Given the description of an element on the screen output the (x, y) to click on. 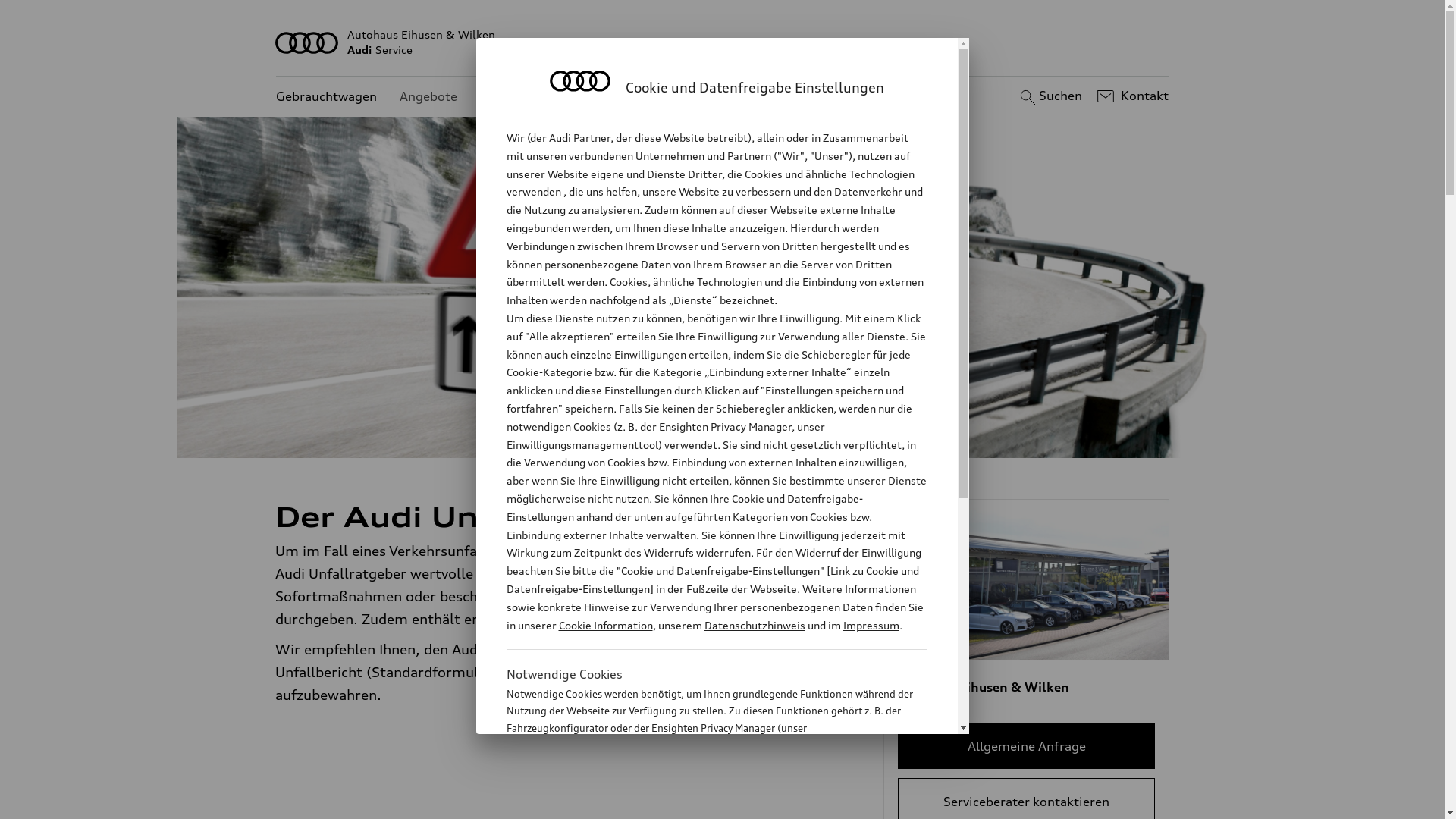
Datenschutzhinweis Element type: text (753, 624)
Impressum Element type: text (871, 624)
Cookie Information Element type: text (700, 802)
Kontakt Element type: text (1130, 96)
Angebote Element type: text (428, 96)
Audi Partner Element type: text (579, 137)
Gebrauchtwagen Element type: text (326, 96)
Allgemeine Anfrage Element type: text (1025, 745)
Autohaus Eihusen & Wilken
AudiService Element type: text (722, 42)
Suchen Element type: text (1049, 96)
Cookie Information Element type: text (605, 624)
Kundenservice Element type: text (523, 96)
